Given the description of an element on the screen output the (x, y) to click on. 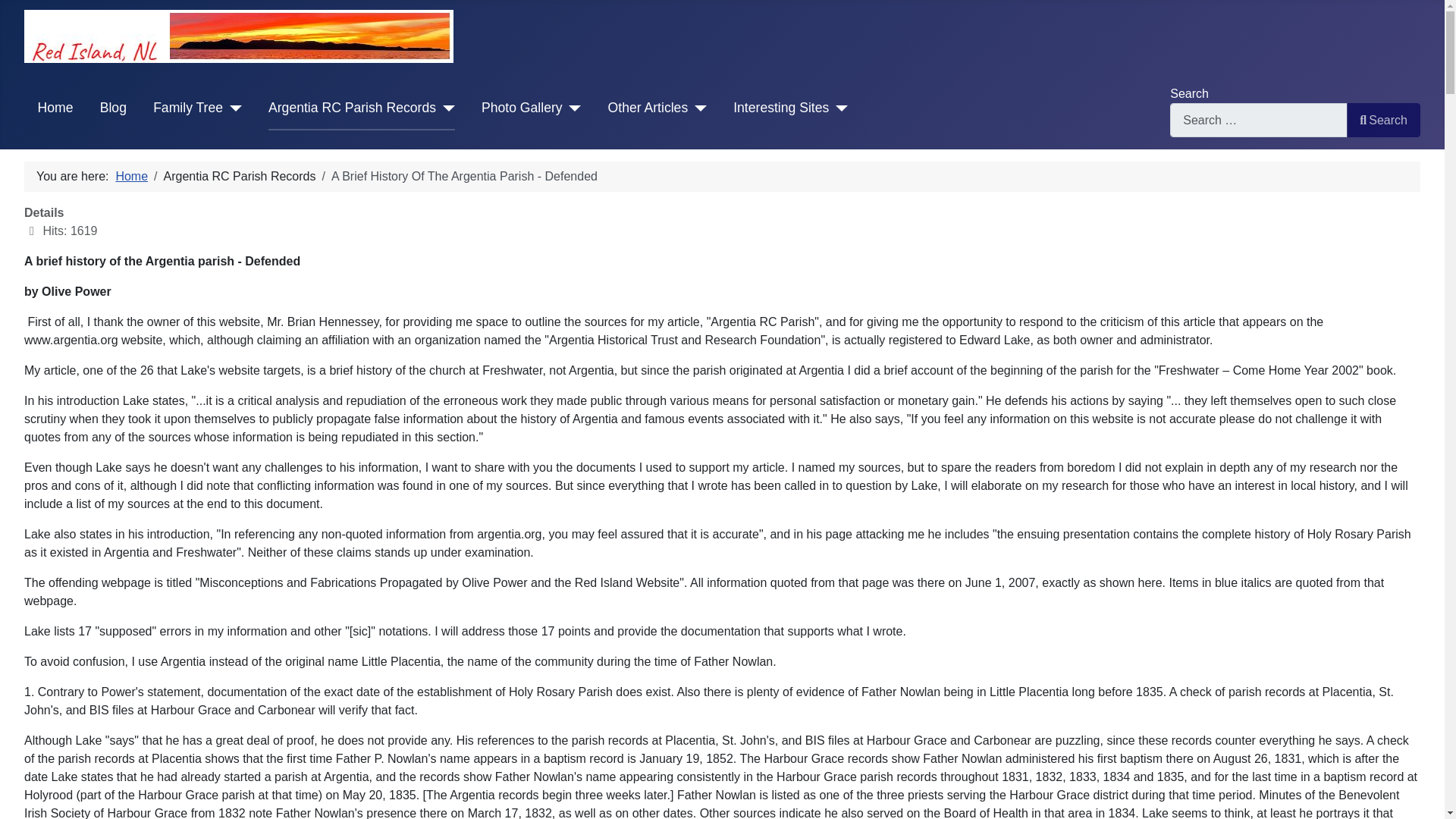
Home (55, 107)
Family Tree (196, 108)
Argentia RC Parish Records (360, 108)
Other Articles (657, 108)
Blog (113, 107)
Photo Gallery (530, 108)
